Given the description of an element on the screen output the (x, y) to click on. 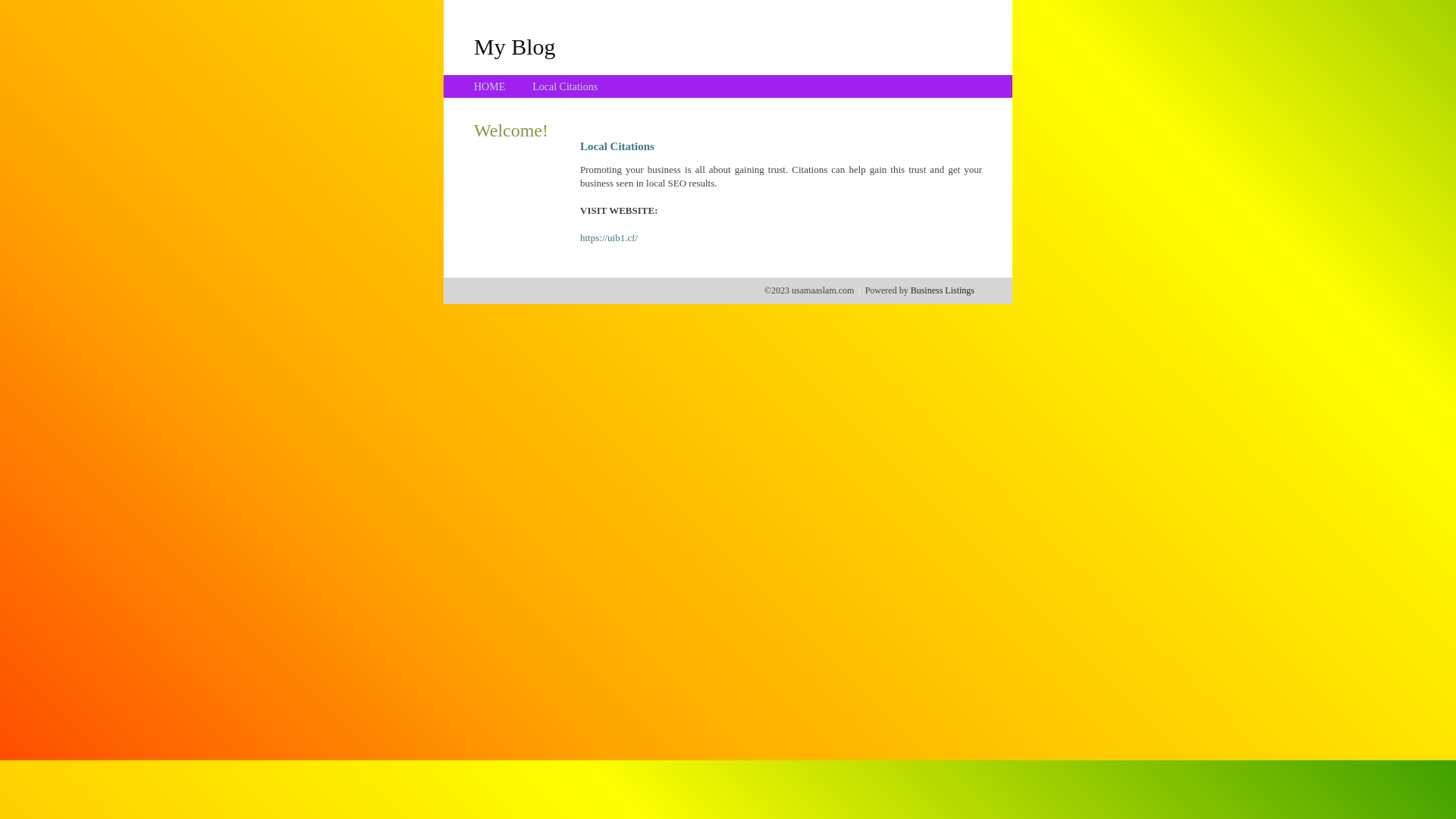
https://uib1.cf/ Element type: text (608, 237)
My Blog Element type: text (514, 46)
Business Listings Element type: text (942, 290)
HOME Element type: text (489, 86)
Local Citations Element type: text (564, 86)
